Given the description of an element on the screen output the (x, y) to click on. 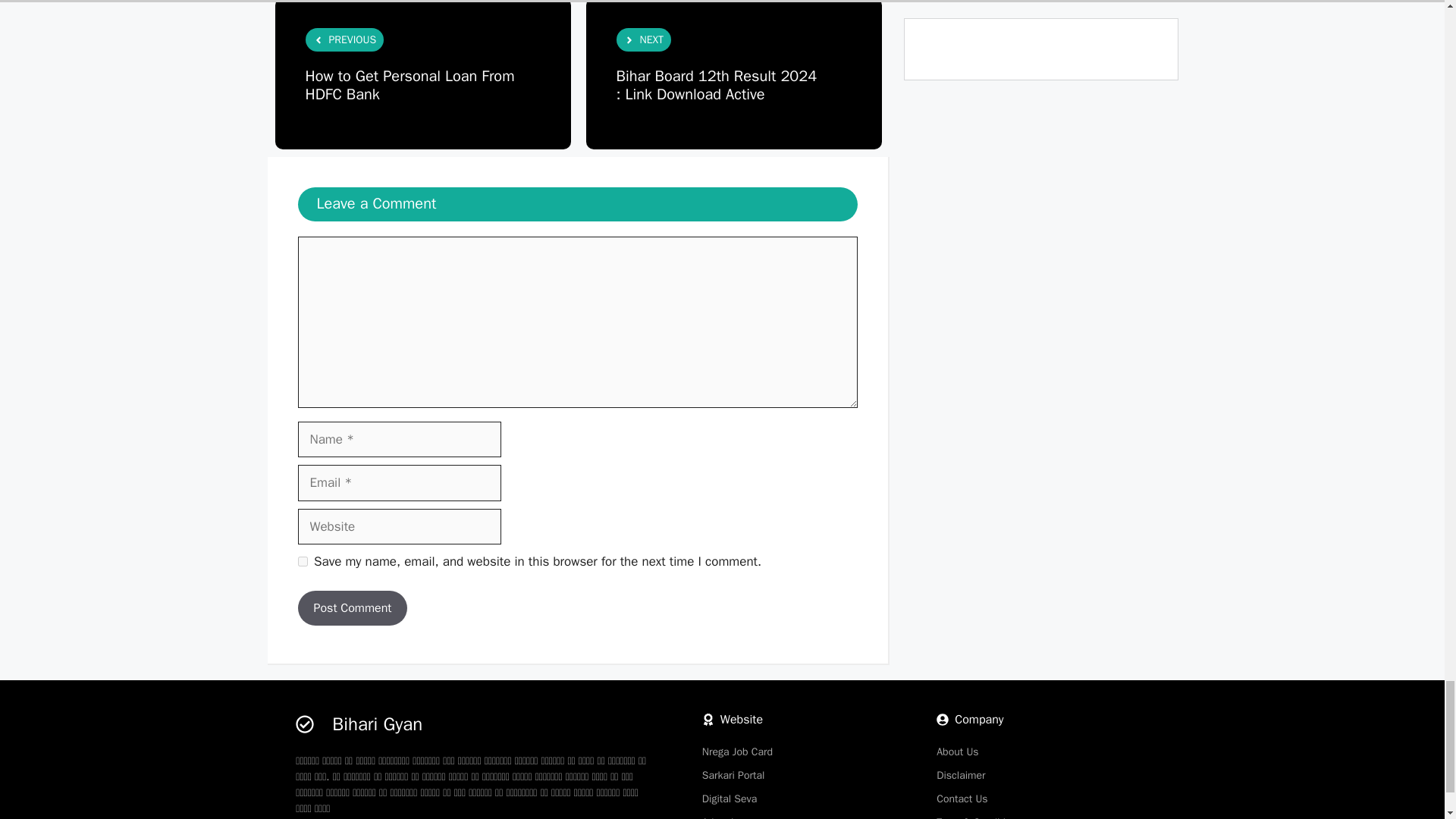
Bihar Board 12th Result 2024 : Link Download Active (715, 85)
Post Comment (352, 607)
How to Get Personal Loan From HDFC Bank (408, 85)
yes (302, 561)
Post Comment (352, 607)
